Given the description of an element on the screen output the (x, y) to click on. 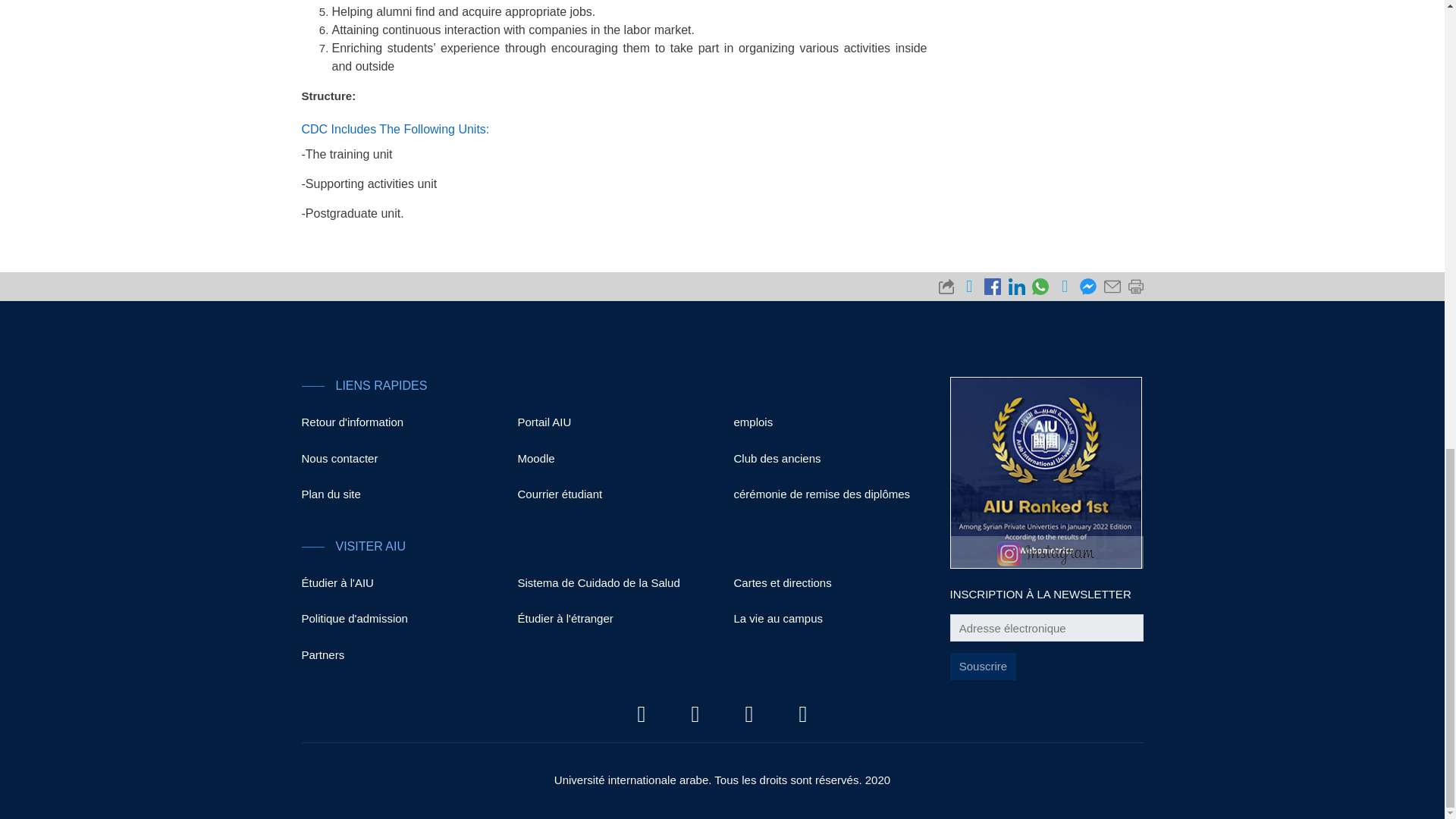
Print (1133, 282)
